Given the description of an element on the screen output the (x, y) to click on. 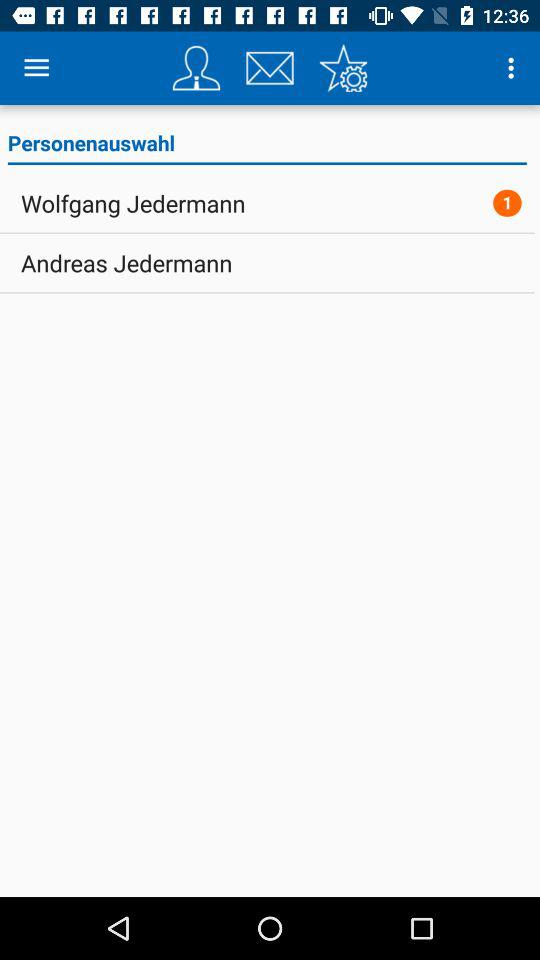
scroll until personenauswahl icon (266, 146)
